Given the description of an element on the screen output the (x, y) to click on. 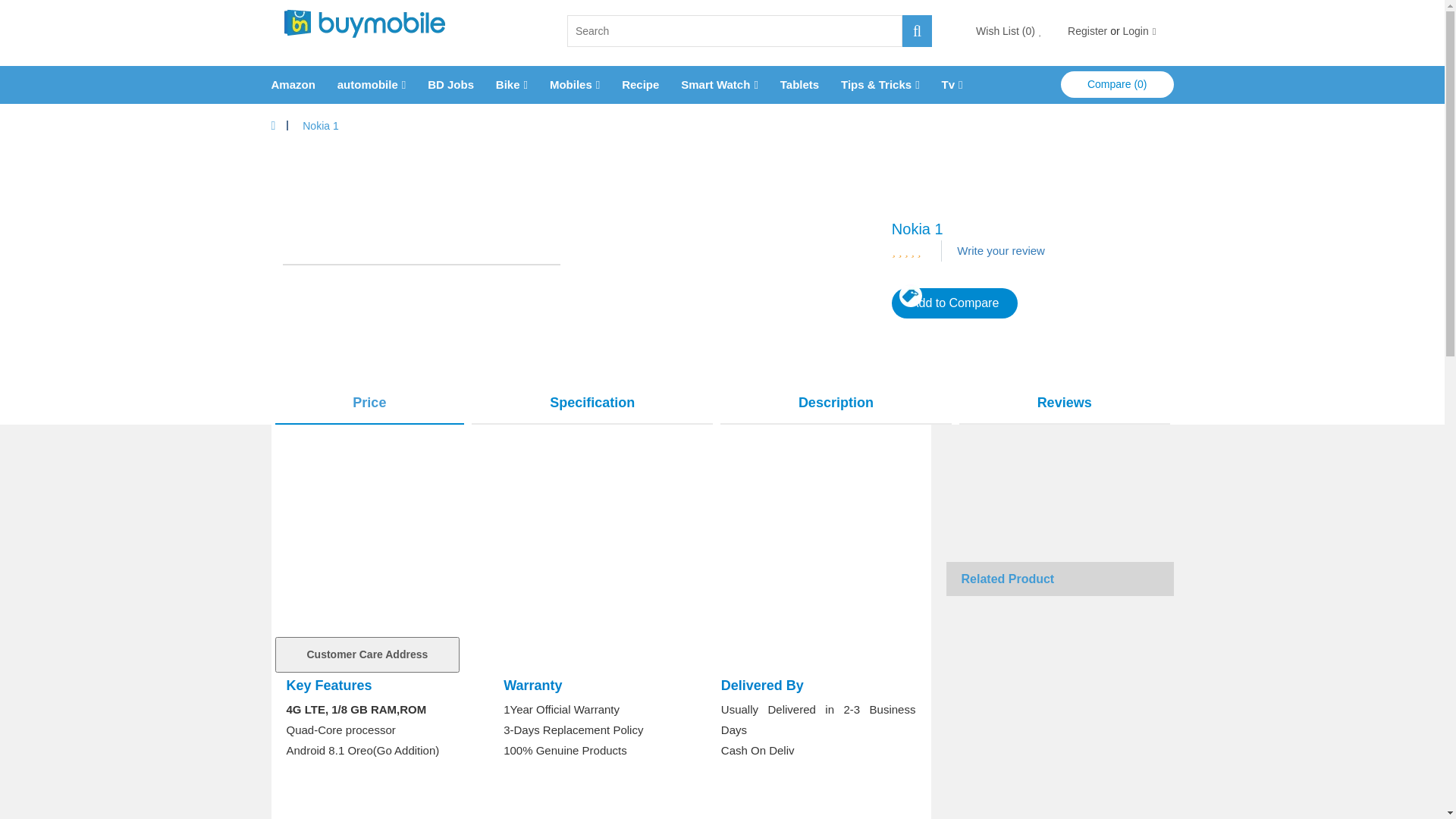
Bike Element type: text (507, 84)
Tv Element type: text (948, 84)
Add to Compare Element type: text (954, 303)
Customer Care Address Element type: text (366, 654)
buy mobile Element type: hover (363, 22)
Advertisement Element type: hover (601, 530)
Home Element type: hover (273, 125)
Recipe Element type: text (639, 84)
Login Element type: text (1135, 31)
Tips & Tricks Element type: text (875, 84)
Amazon Element type: text (293, 84)
Mobiles Element type: text (570, 84)
BD Jobs Element type: text (450, 84)
Price Element type: text (369, 403)
Wish List (0) Element type: text (1008, 31)
Advertisement Element type: hover (722, 264)
Specification Element type: text (591, 403)
automobile Element type: text (367, 84)
Tablets Element type: text (799, 84)
Advertisement Element type: hover (1059, 481)
Reviews Element type: text (1064, 403)
Description Element type: text (835, 403)
Compare (0) Element type: text (1116, 84)
Write your review Element type: text (1000, 250)
Register Element type: text (1087, 31)
Smart Watch Element type: text (714, 84)
Nokia 1 Element type: text (320, 125)
